Given the description of an element on the screen output the (x, y) to click on. 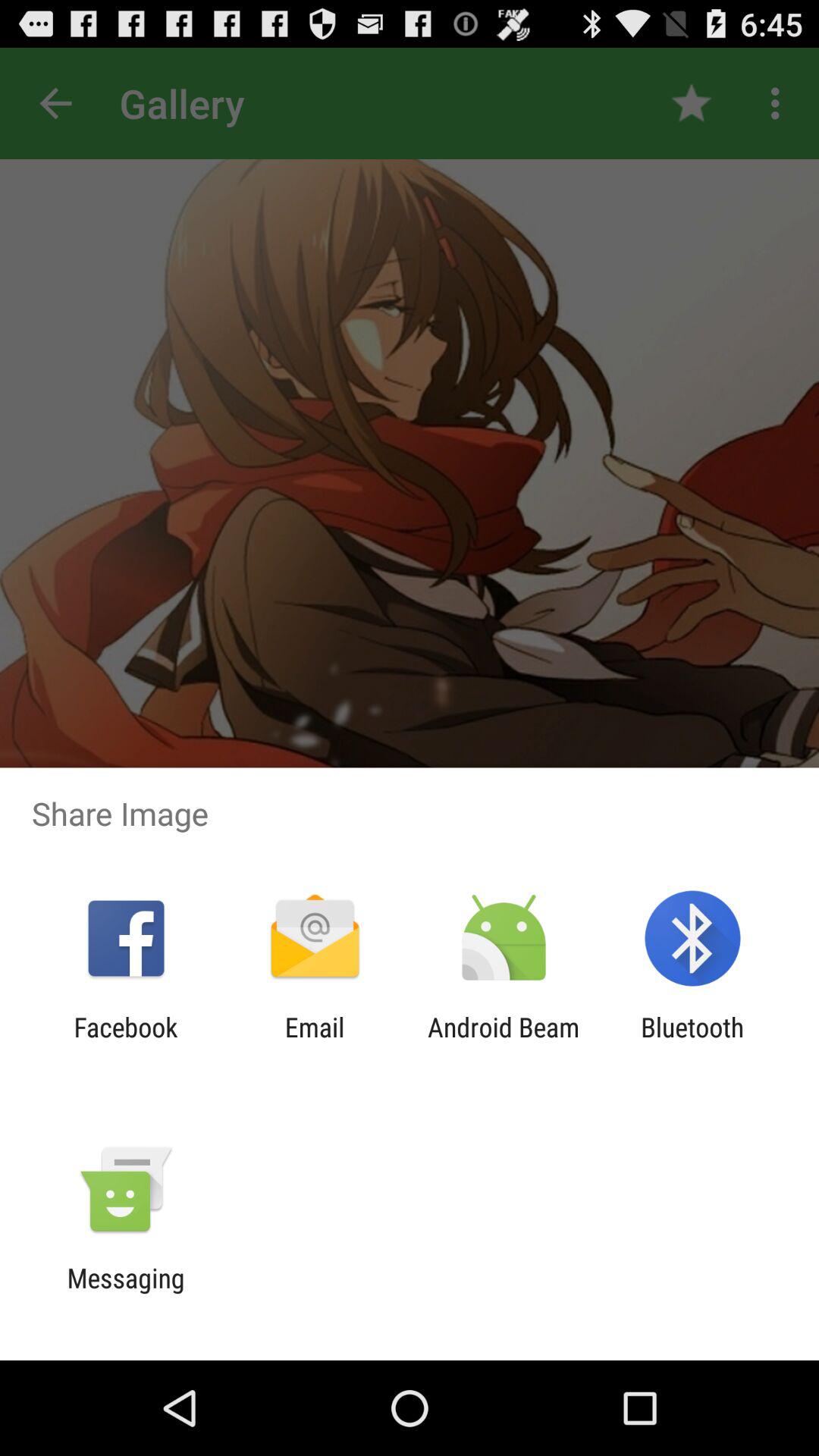
click the item next to android beam app (691, 1042)
